Given the description of an element on the screen output the (x, y) to click on. 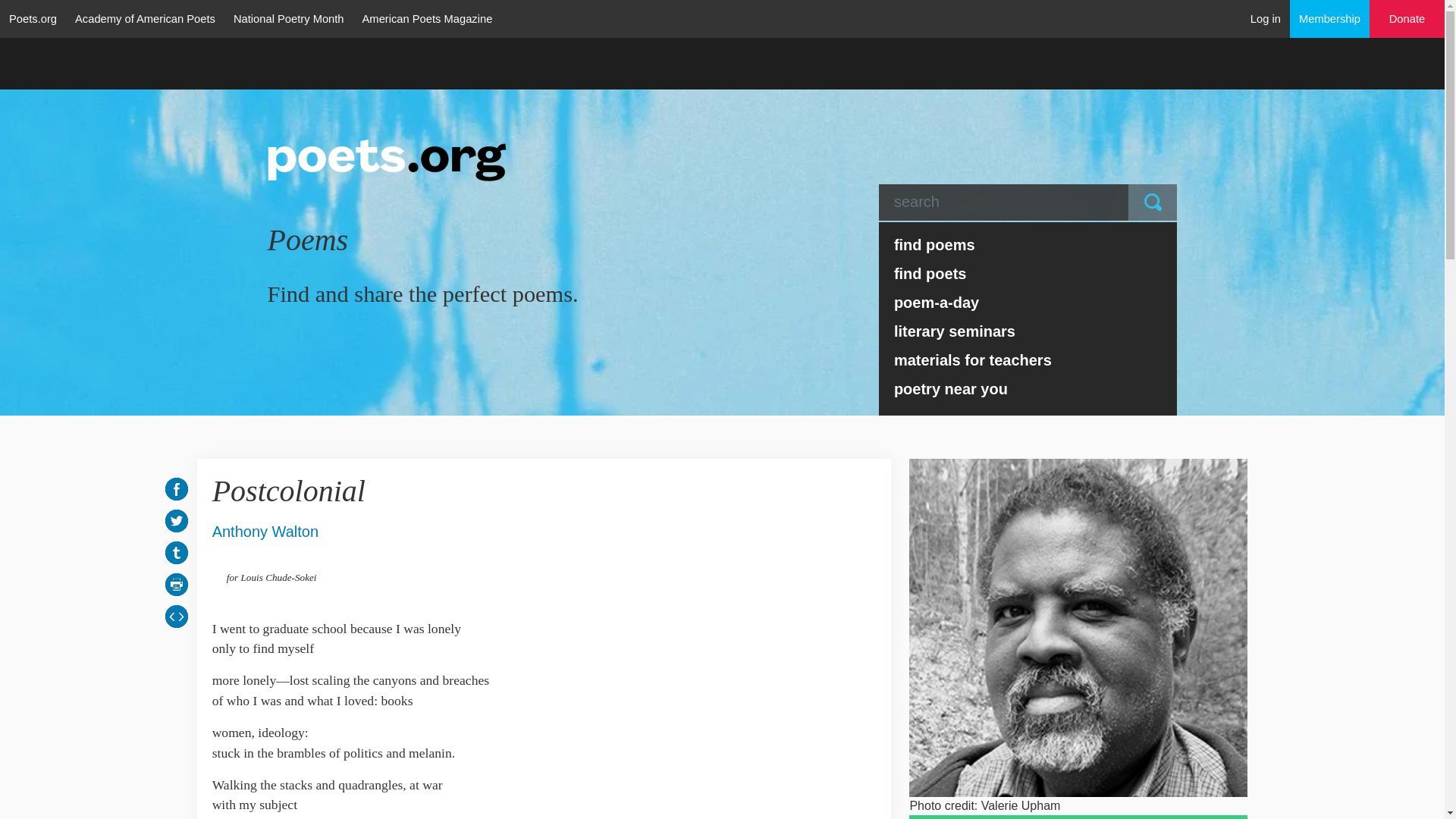
materials for teachers (1028, 359)
poem-a-day (1028, 302)
Log in (1265, 18)
materials for teachers (1028, 359)
American Poets Magazine (427, 18)
Share on Twitter (176, 520)
Photo credit: Valerie Upham (1077, 627)
Academy of American Poets (144, 18)
Support the mission of the Academy of American Poets (1407, 18)
find poets (1028, 273)
